Given the description of an element on the screen output the (x, y) to click on. 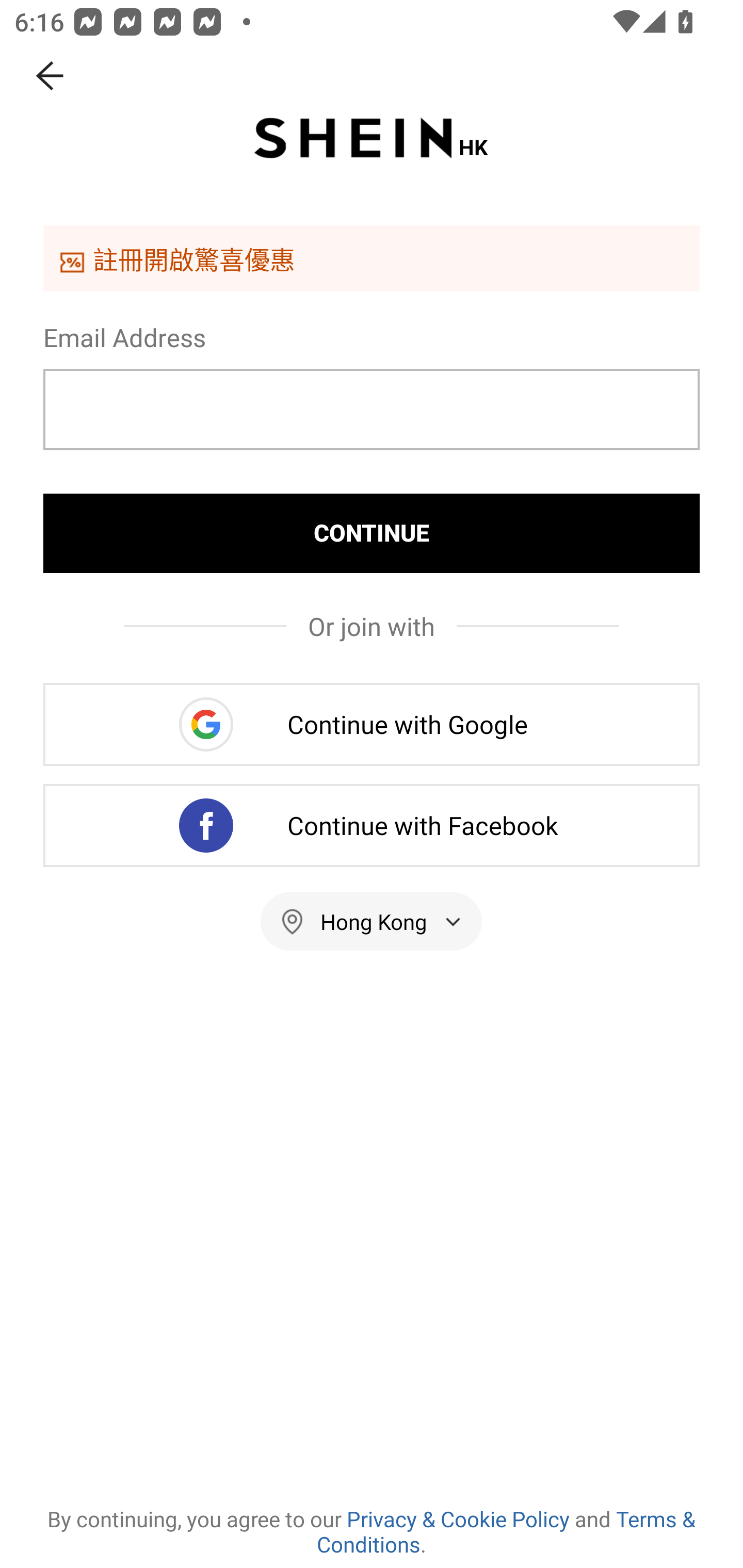
CLOSE (50, 75)
CONTINUE (371, 532)
Continue with Google (371, 724)
Continue with Facebook (371, 825)
Hong Kong (371, 921)
